Given the description of an element on the screen output the (x, y) to click on. 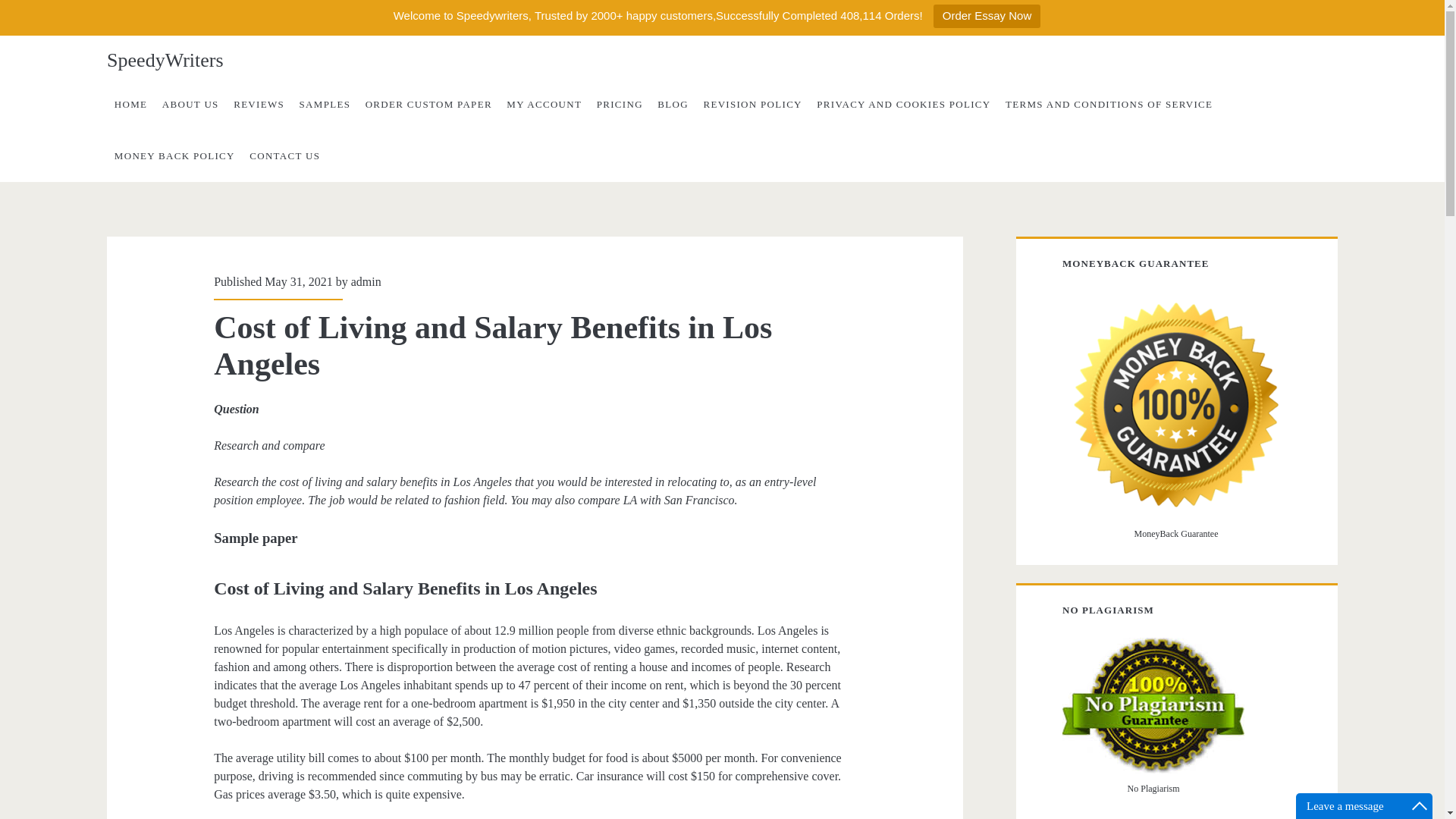
SpeedyWriters (164, 60)
SAMPLES (325, 104)
ABOUT US (189, 104)
ORDER CUSTOM PAPER (428, 104)
REVIEWS (258, 104)
MONEY BACK POLICY (173, 155)
HOME (130, 104)
Order Essay Now (987, 15)
TERMS AND CONDITIONS OF SERVICE (1108, 104)
PRICING (619, 104)
CONTACT US (284, 155)
REVISION POLICY (752, 104)
Posts by admin (365, 281)
No Plagiarism (1153, 705)
admin (365, 281)
